Given the description of an element on the screen output the (x, y) to click on. 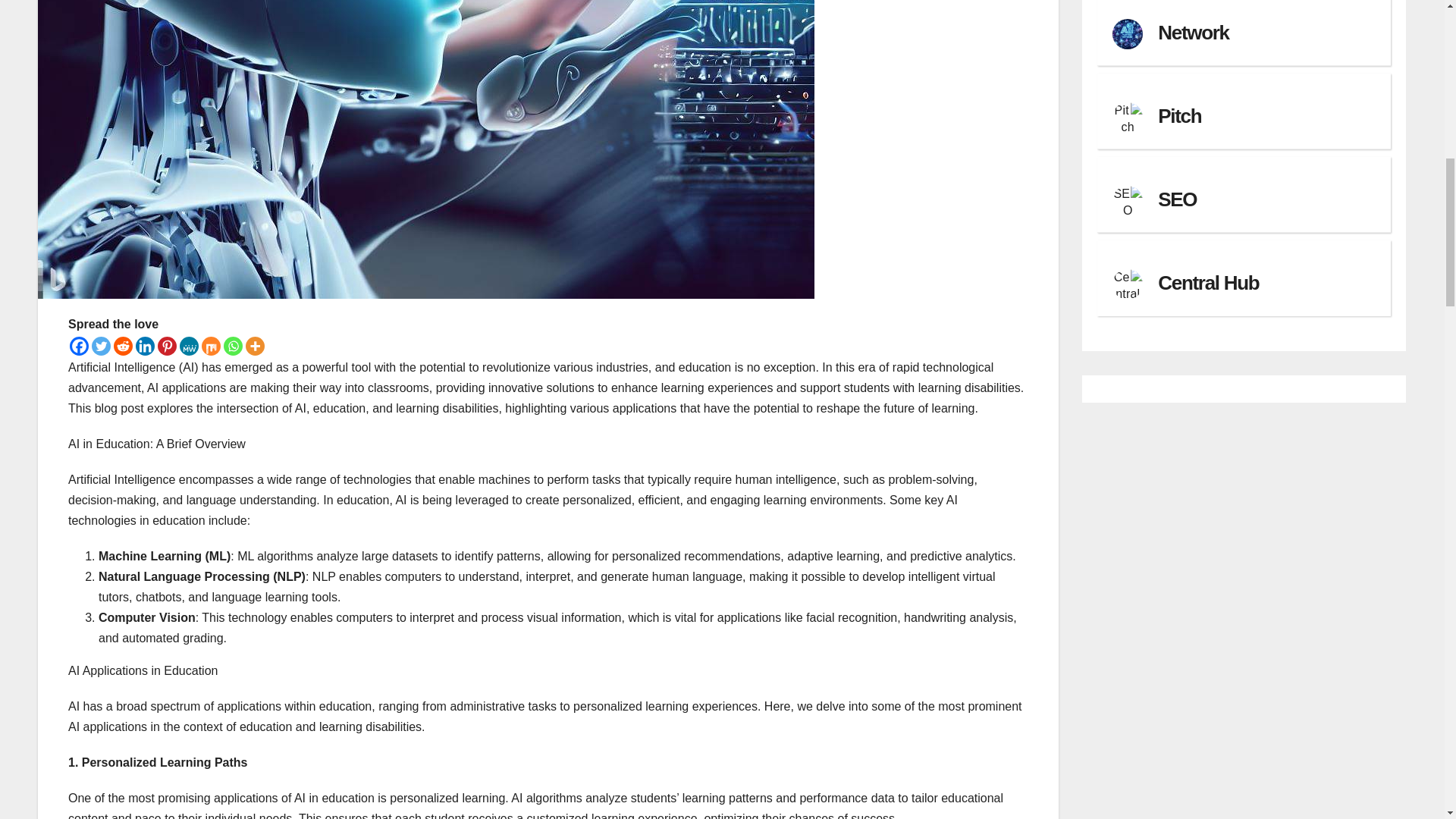
MeWe (188, 345)
Reddit (122, 345)
Mix (211, 345)
Whatsapp (233, 345)
More (255, 345)
Twitter (100, 345)
Pinterest (166, 345)
Facebook (78, 345)
Linkedin (144, 345)
